Given the description of an element on the screen output the (x, y) to click on. 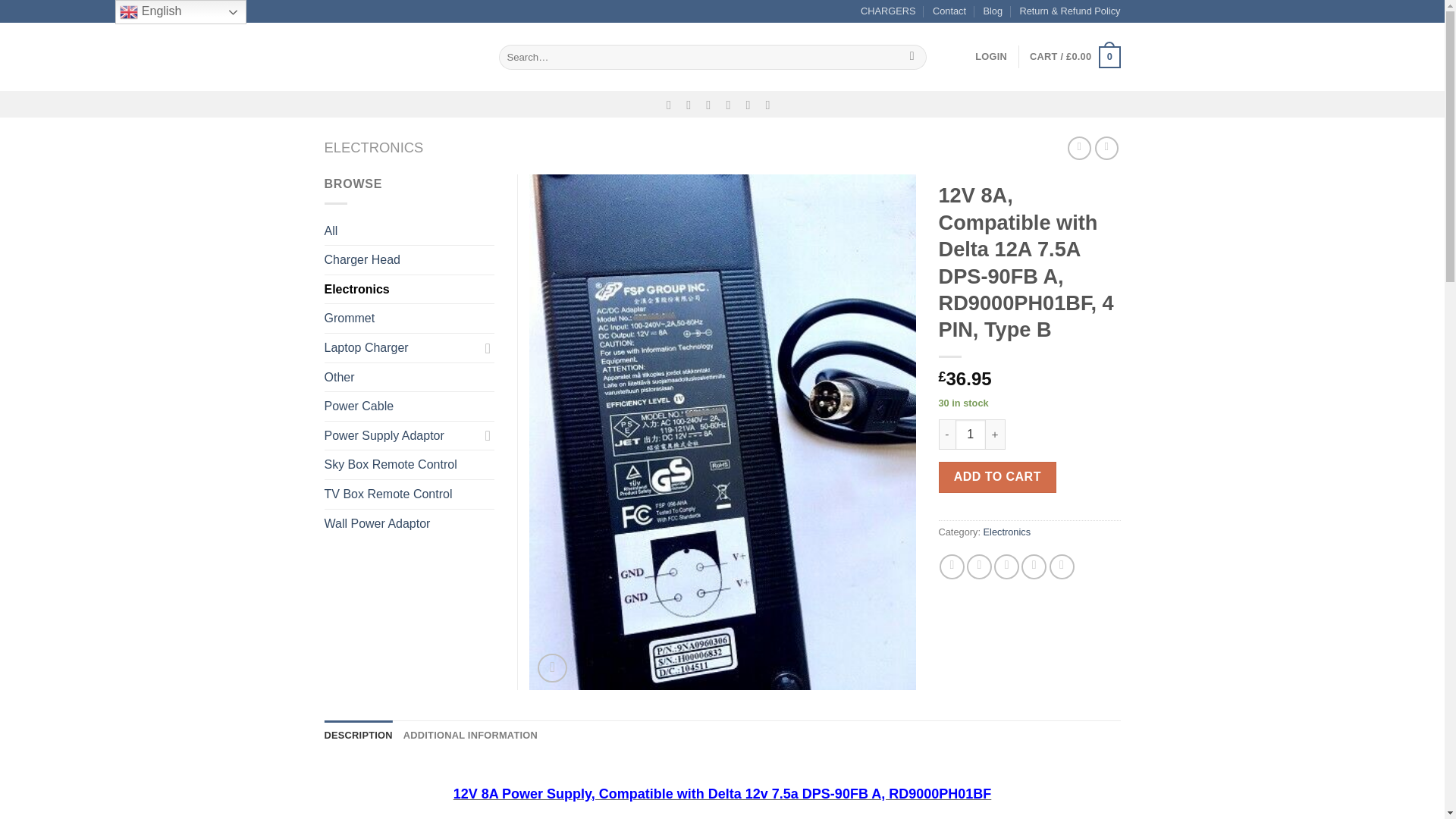
ADD TO CART (998, 476)
Qty (970, 434)
ELECTRONICS (373, 147)
CHARGERS (887, 11)
Cart (1074, 57)
LOGIN (991, 56)
Contact (949, 11)
Chargers Hunt (400, 56)
1 (970, 434)
Search (911, 57)
Electronics (1007, 531)
